Given the description of an element on the screen output the (x, y) to click on. 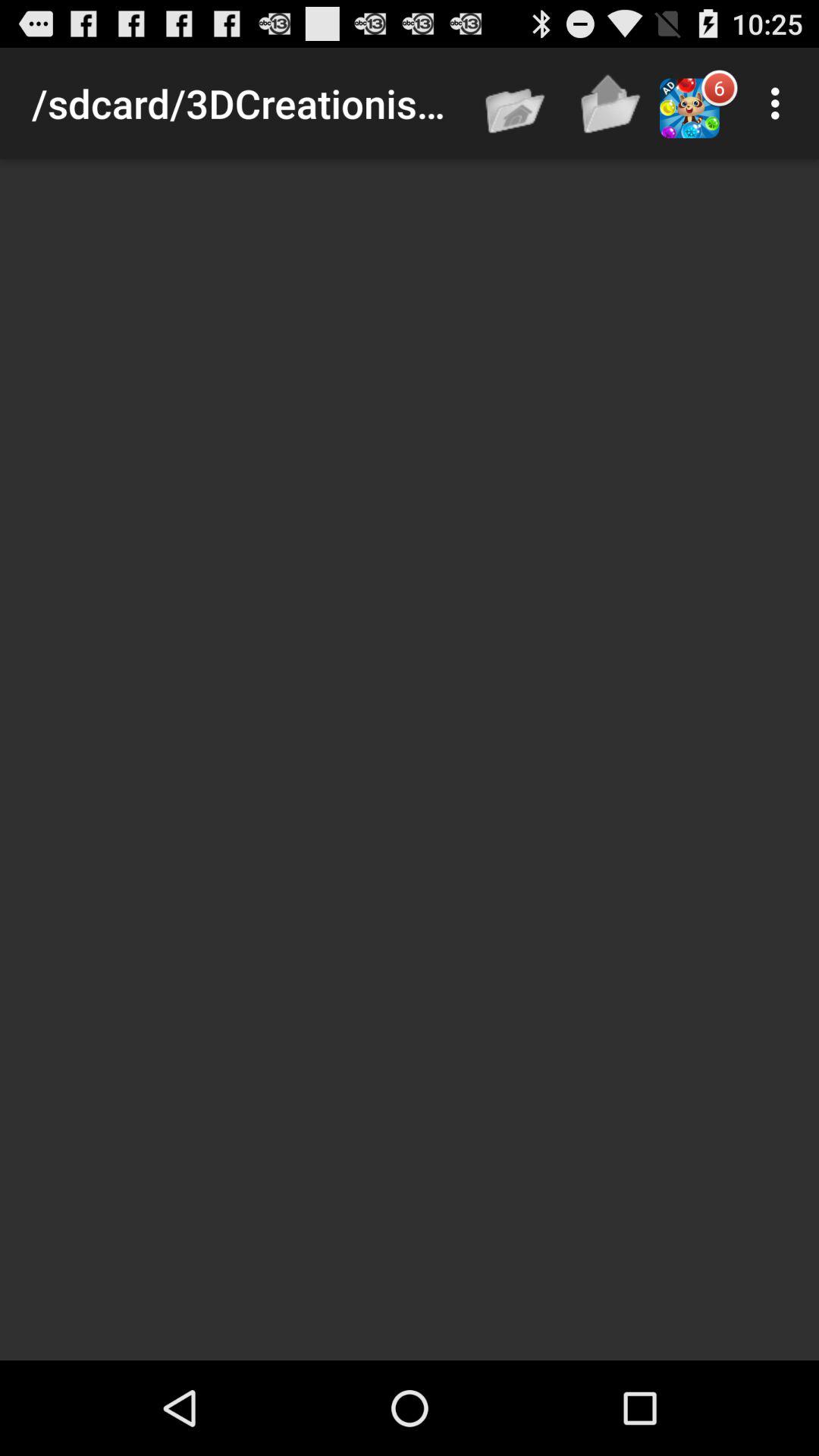
launch icon to the right of the 6 icon (779, 103)
